Given the description of an element on the screen output the (x, y) to click on. 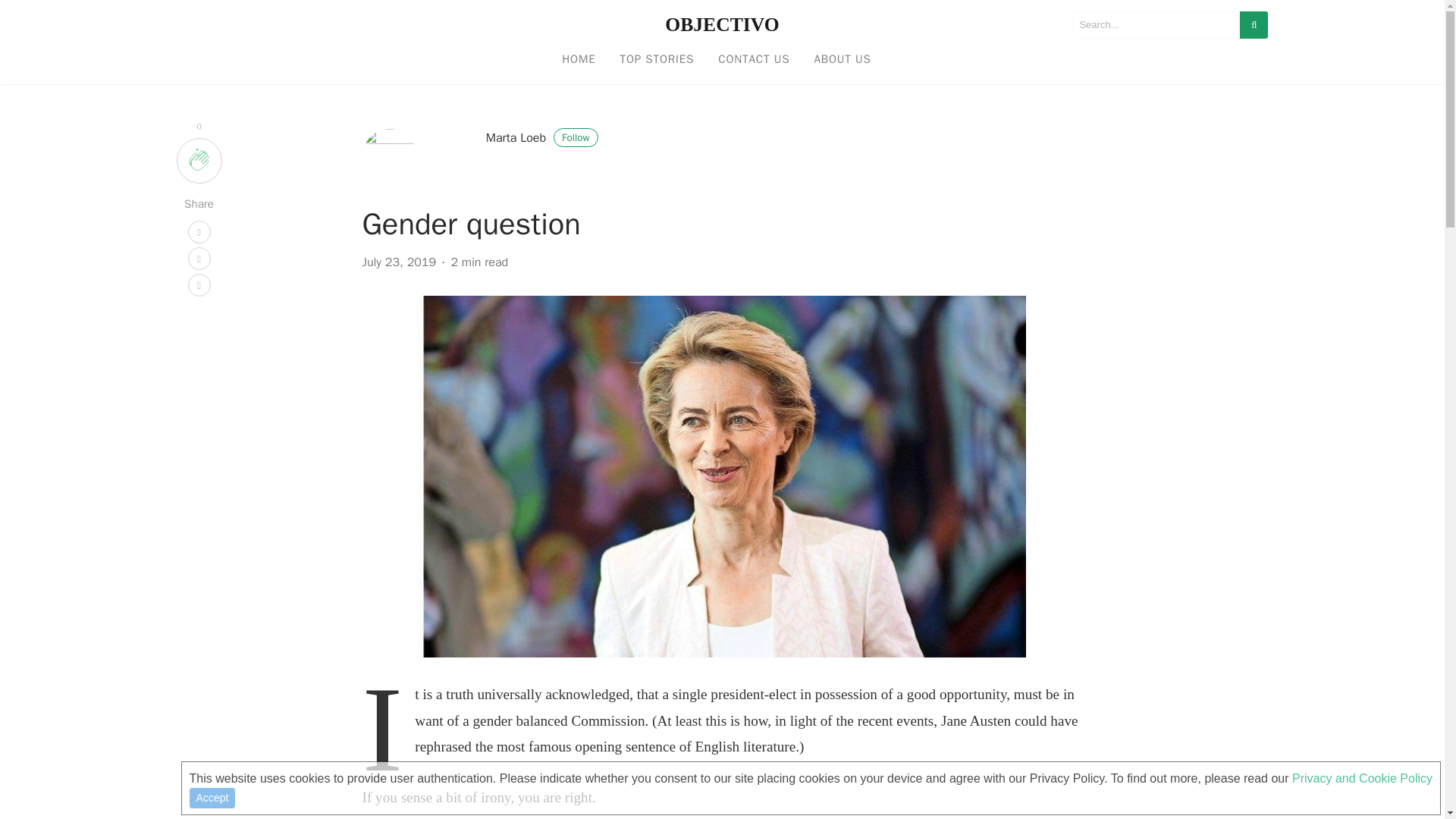
HOME (578, 59)
ABOUT US (842, 59)
OBJECTIVO (721, 24)
Search for: (1156, 24)
Privacy and Cookie Policy (1362, 778)
TOP STORIES (656, 59)
CONTACT US (754, 59)
Accept (212, 797)
Marta Loeb Follow (542, 137)
